Given the description of an element on the screen output the (x, y) to click on. 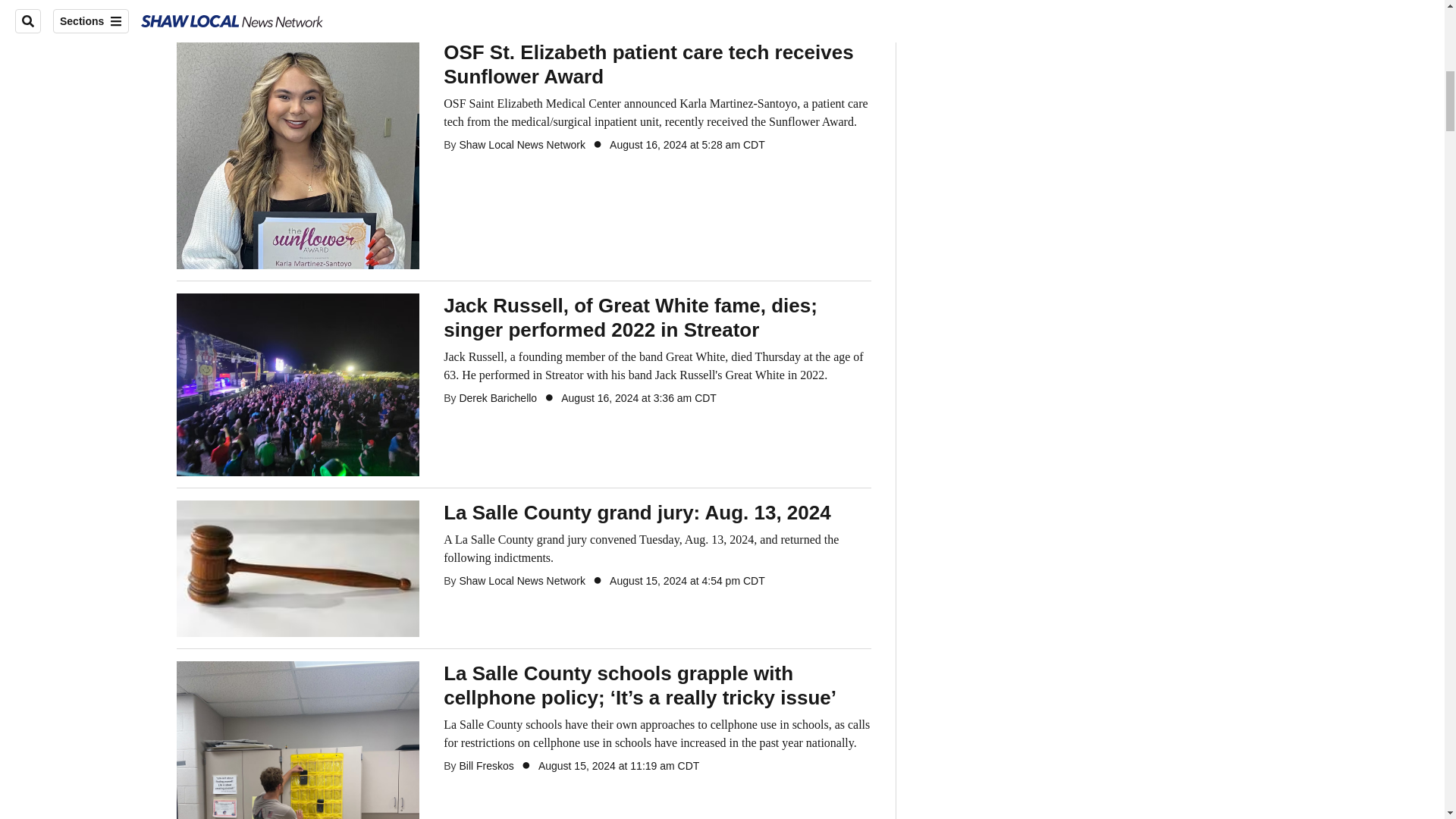
La Salle County grand jury: Aug. 13, 2024 (297, 567)
La Salle County grand jury: Aug. 13, 2024 (657, 512)
OSF St. Elizabeth patient care tech receives Sunflower Award (657, 64)
OSF St. Elizabeth patient care tech receives Sunflower Award (297, 153)
OSF St. Elizabeth patient care tech receives Sunflower Award (657, 113)
La Salle County grand jury: Aug. 13, 2024 (657, 548)
